Given the description of an element on the screen output the (x, y) to click on. 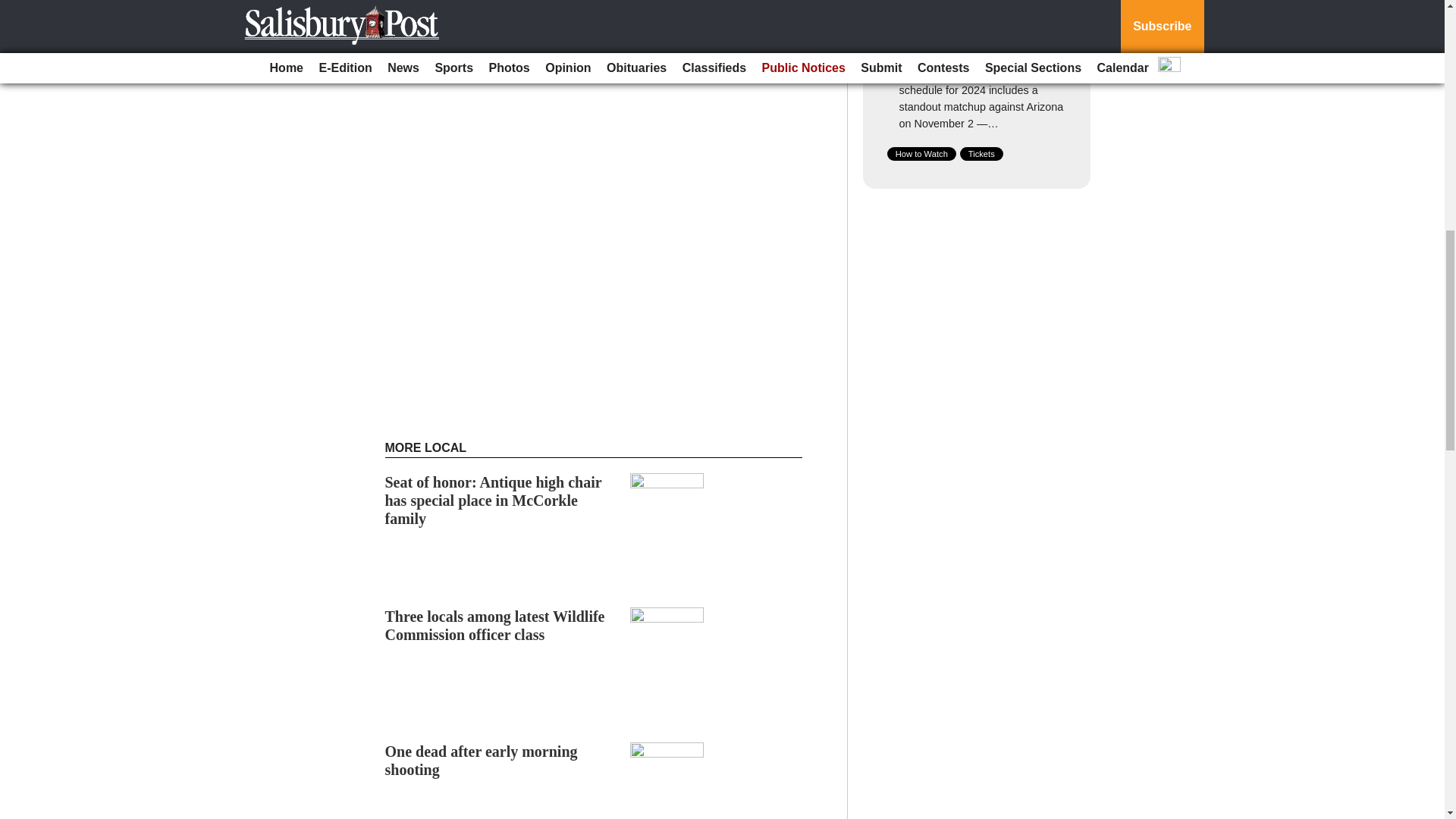
Three locals among latest Wildlife Commission officer class (495, 625)
One dead after early morning shooting (481, 760)
